Given the description of an element on the screen output the (x, y) to click on. 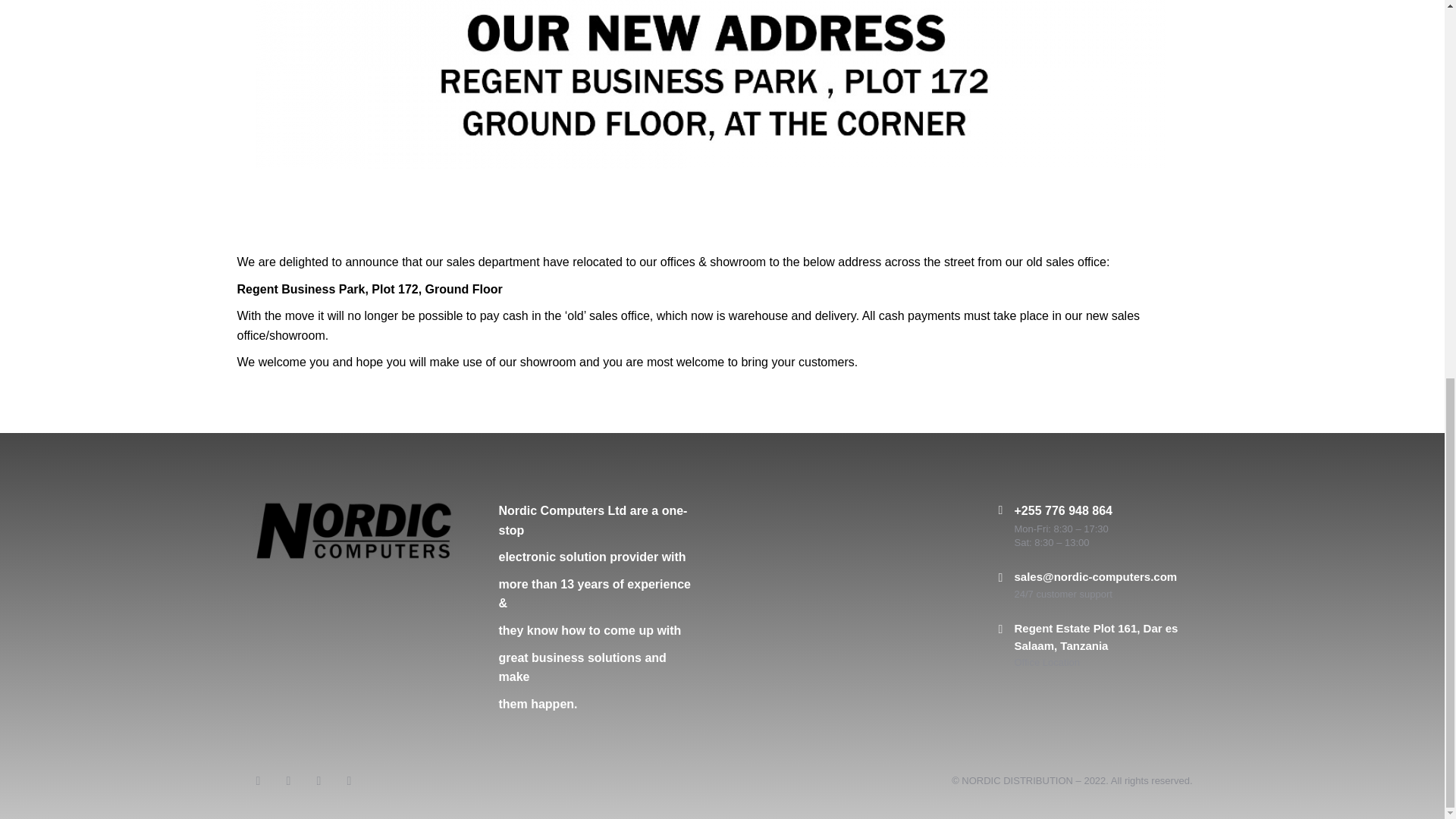
Regent Estate Plot 161, Dar es Salaam, Tanzania (1095, 636)
